Given the description of an element on the screen output the (x, y) to click on. 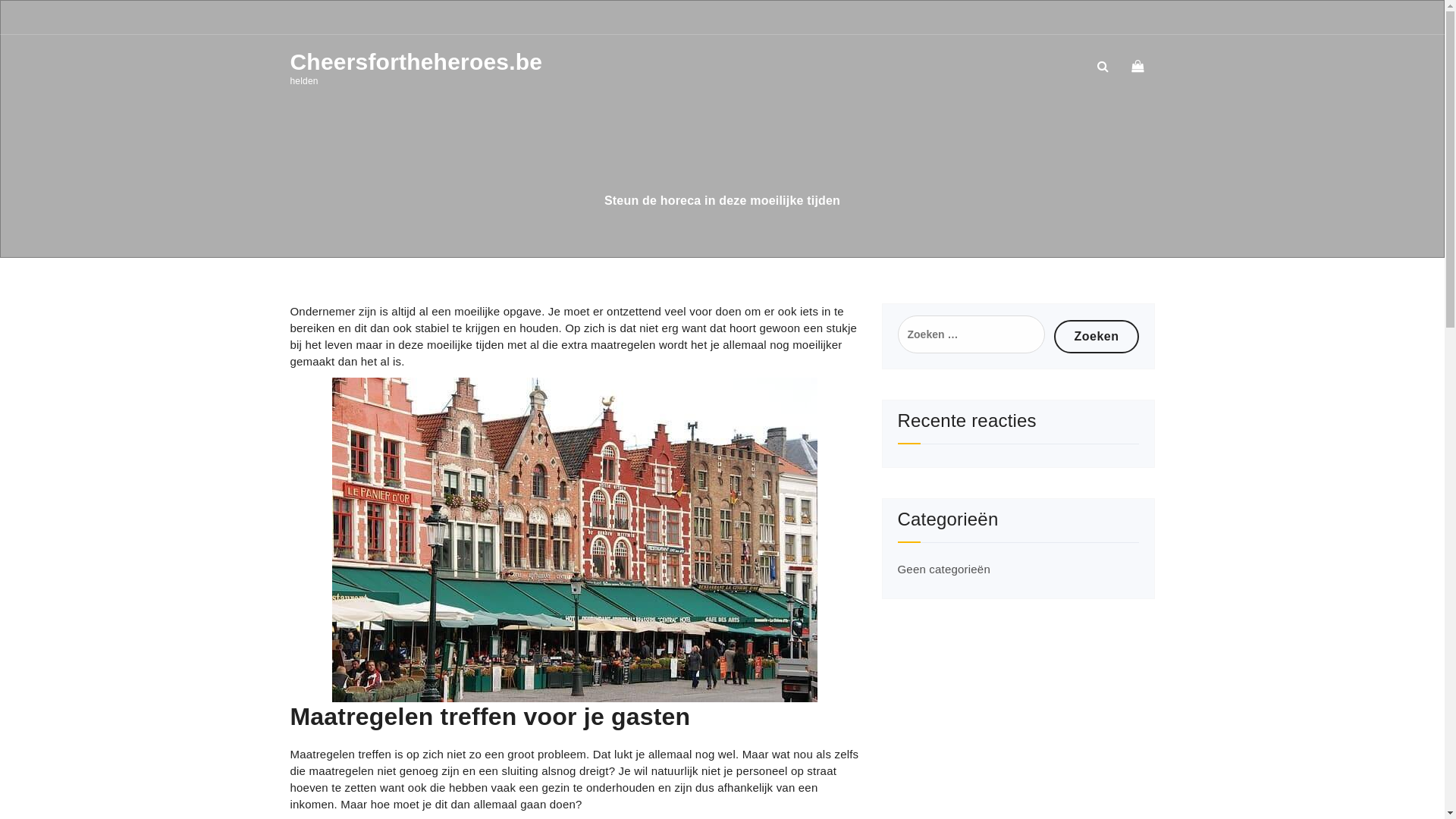
Cheersfortheheroes.be Element type: text (389, 61)
Zoeken Element type: text (1096, 336)
